Given the description of an element on the screen output the (x, y) to click on. 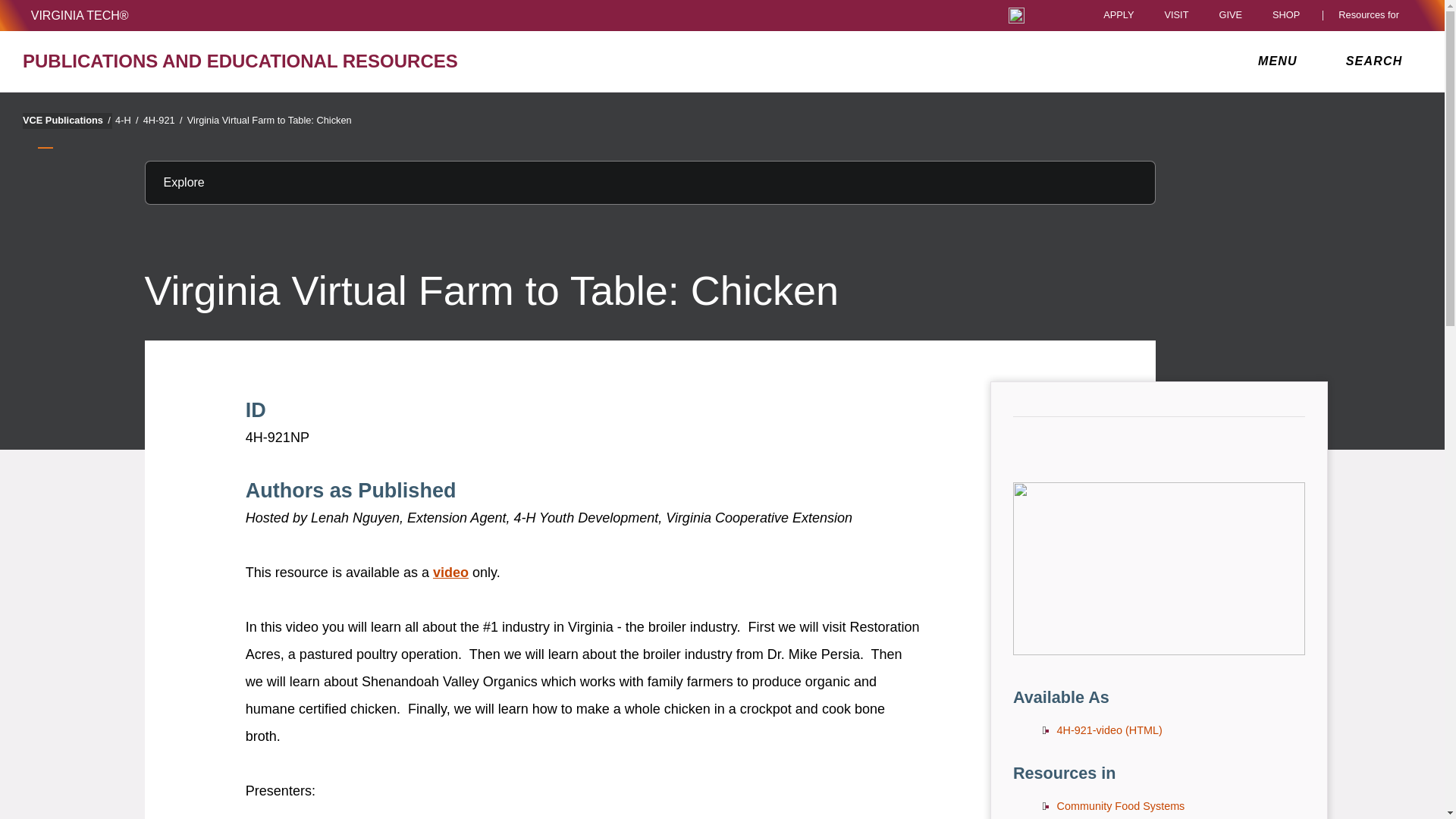
Resources for (1372, 15)
SHOP (1289, 15)
APPLY (1118, 15)
VISIT (1175, 15)
GIVE (1229, 15)
Universal Access Toggle (1017, 15)
PUBLICATIONS AND EDUCATIONAL RESOURCES (250, 60)
MENU (1280, 61)
